Given the description of an element on the screen output the (x, y) to click on. 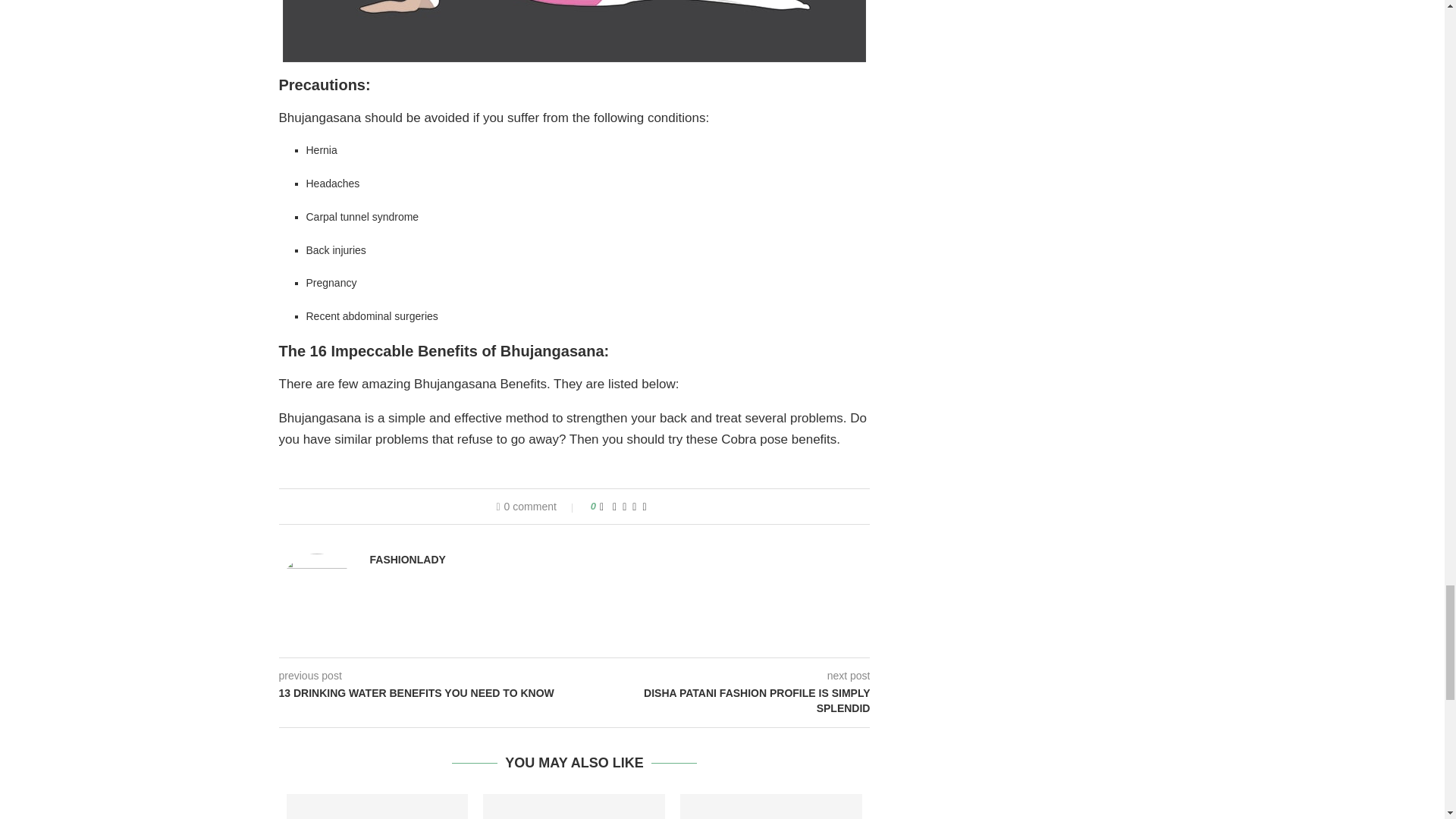
Author Fashionlady (407, 559)
